Given the description of an element on the screen output the (x, y) to click on. 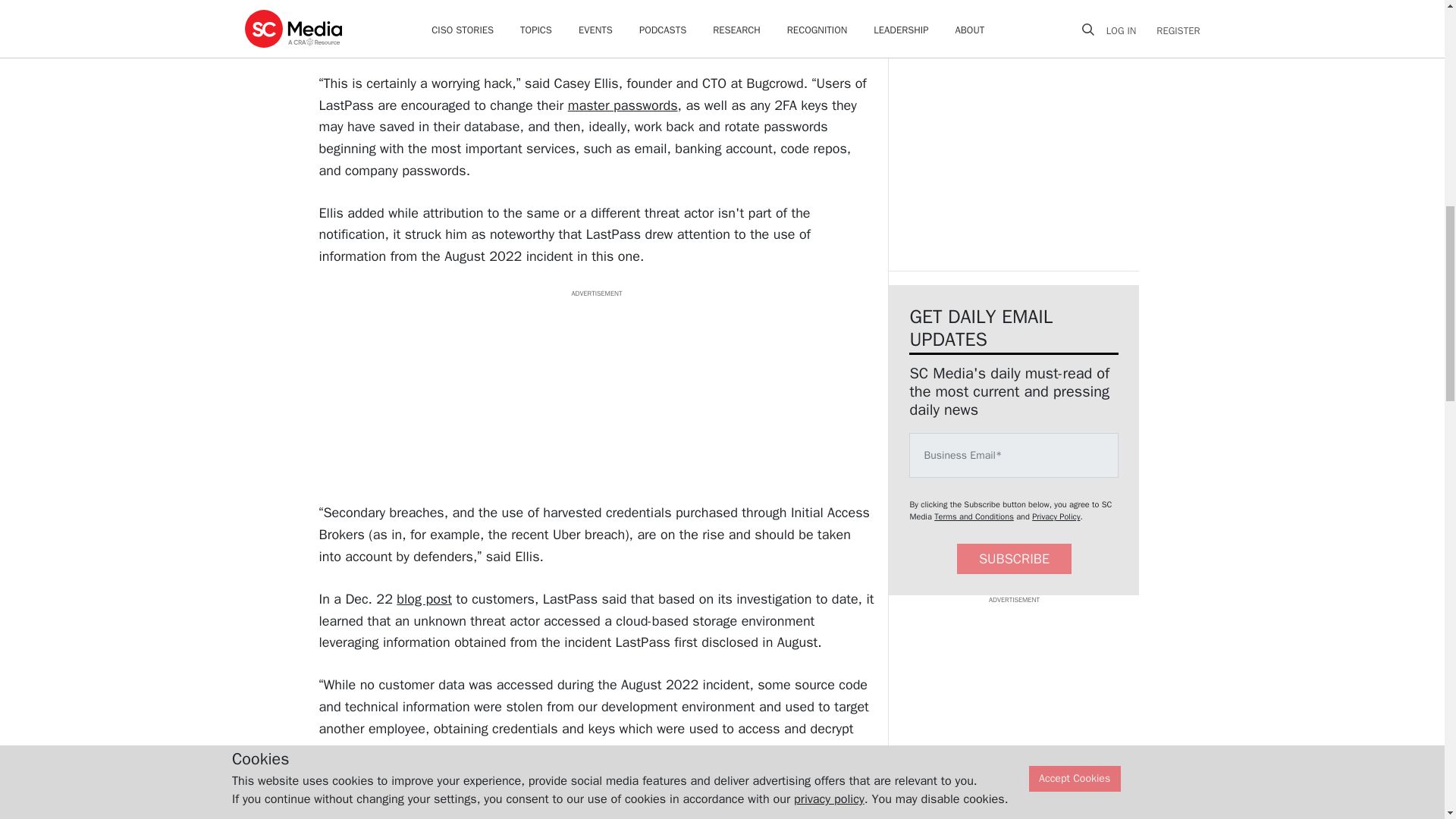
prioritize cloud data security  (569, 812)
SUBSCRIBE (1013, 558)
Terms and Conditions (973, 516)
Privacy Policy (1056, 516)
blog post (423, 598)
3rd party ad content (1012, 700)
master passwords (622, 105)
3rd party ad content (596, 393)
3rd party ad content (1012, 121)
